Given the description of an element on the screen output the (x, y) to click on. 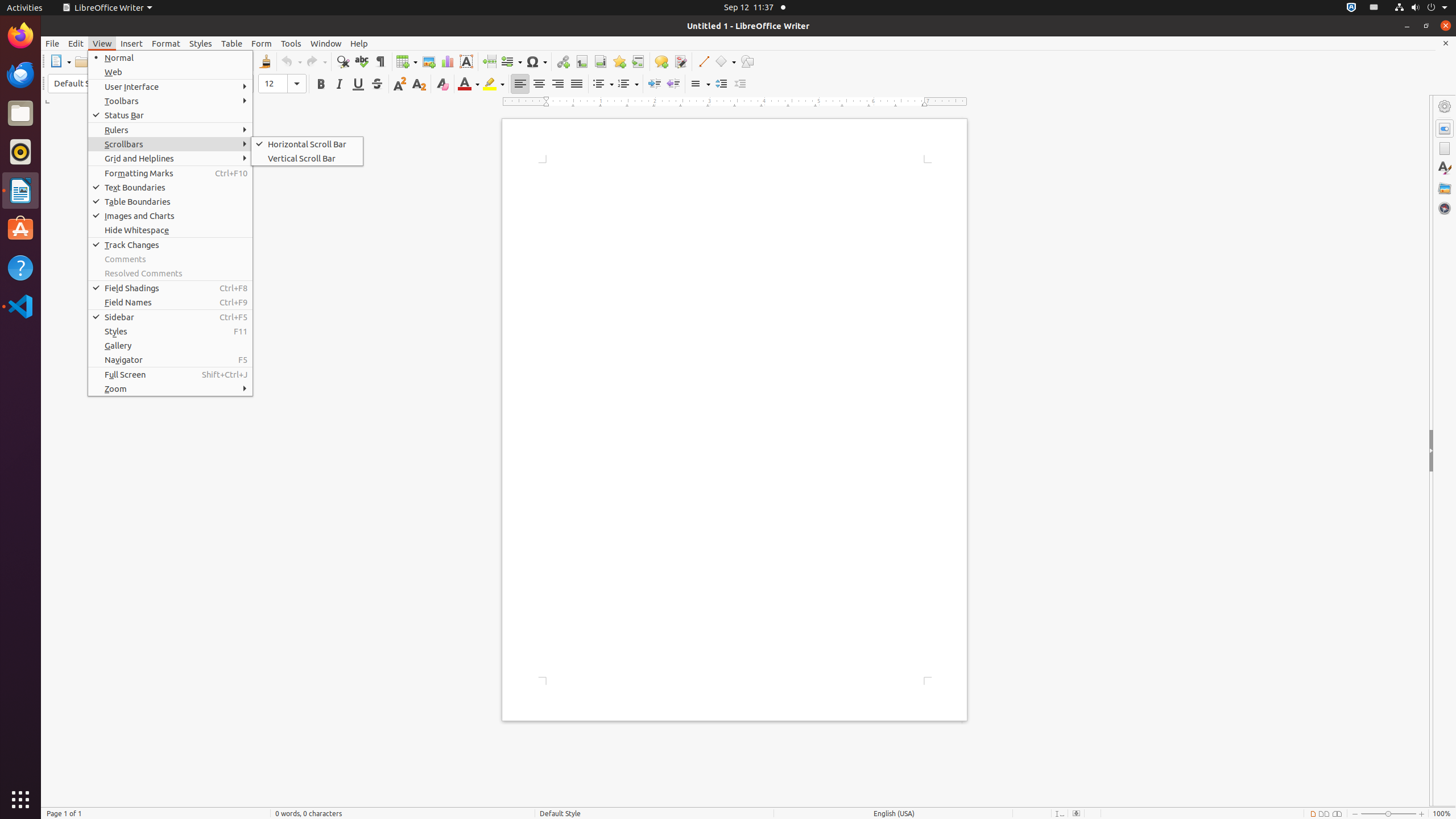
Form Element type: menu (261, 43)
Styles Element type: radio-button (1444, 168)
Line Element type: toggle-button (702, 61)
Table Element type: push-button (406, 61)
Redo Element type: push-button (315, 61)
